Given the description of an element on the screen output the (x, y) to click on. 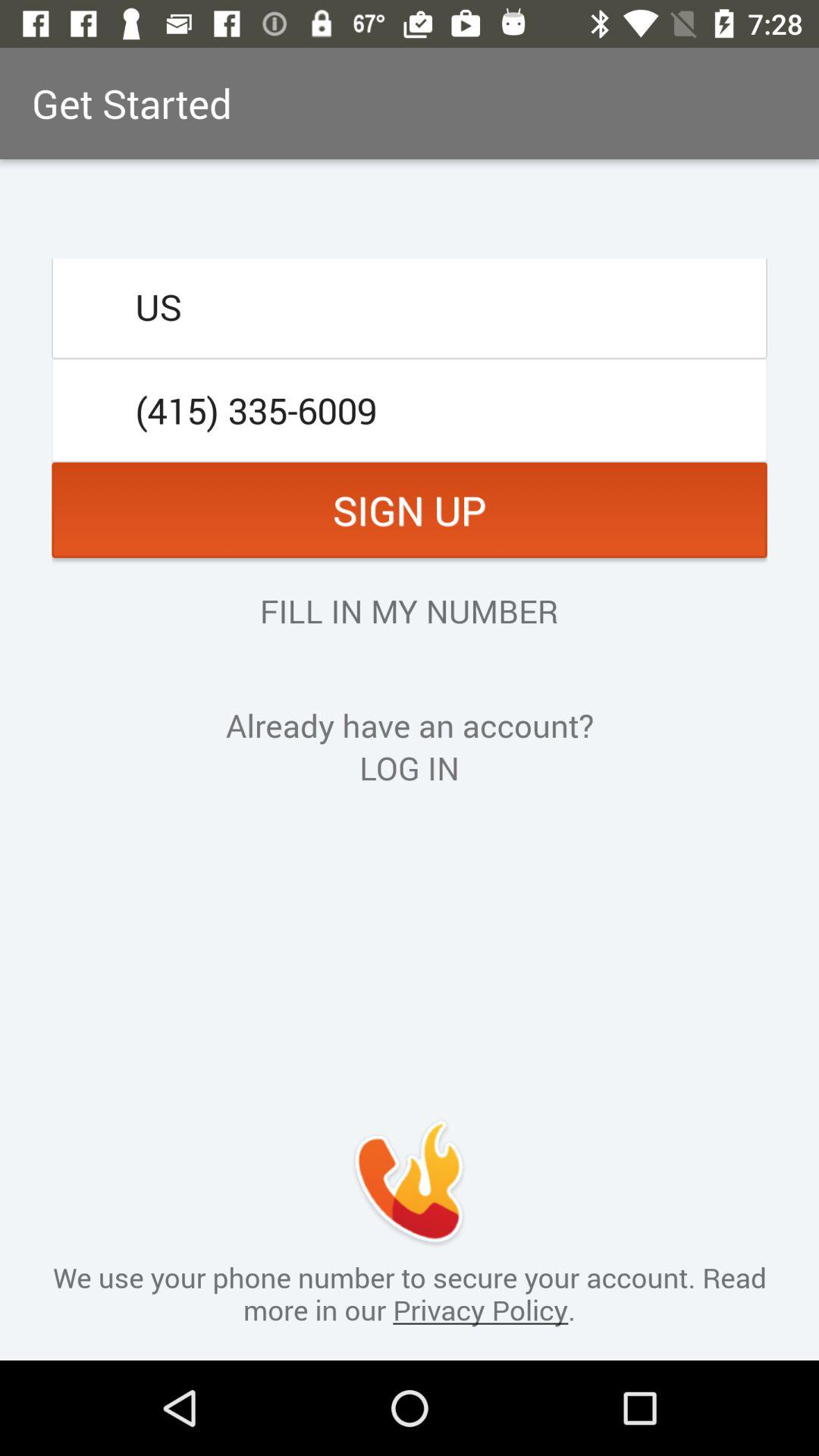
scroll to the (415) 335-6009 item (409, 410)
